Given the description of an element on the screen output the (x, y) to click on. 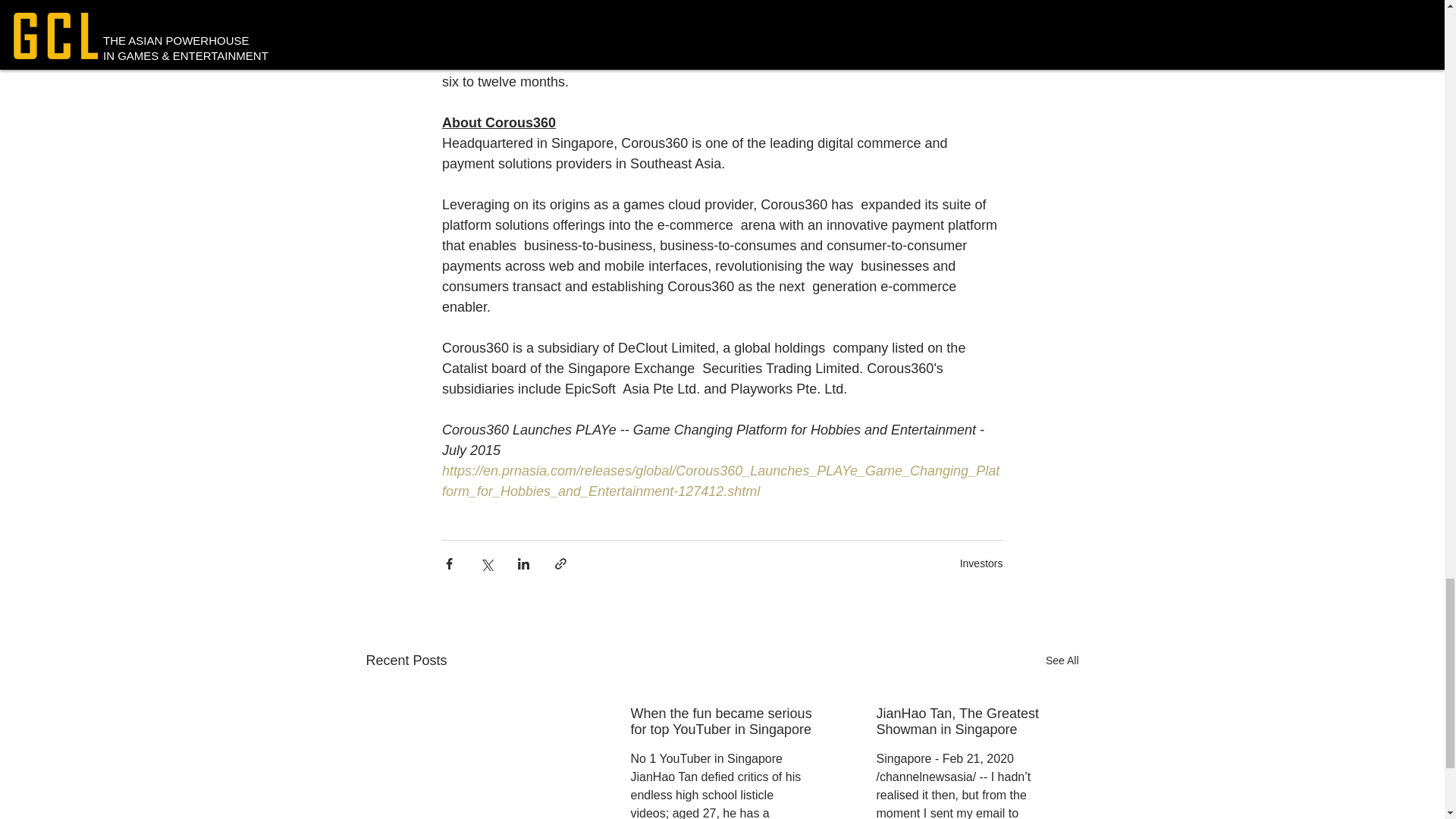
JianHao Tan, The Greatest Showman in Singapore (967, 721)
Investors (981, 562)
When the fun became serious for top YouTuber in Singapore (721, 721)
See All (1061, 660)
